Given the description of an element on the screen output the (x, y) to click on. 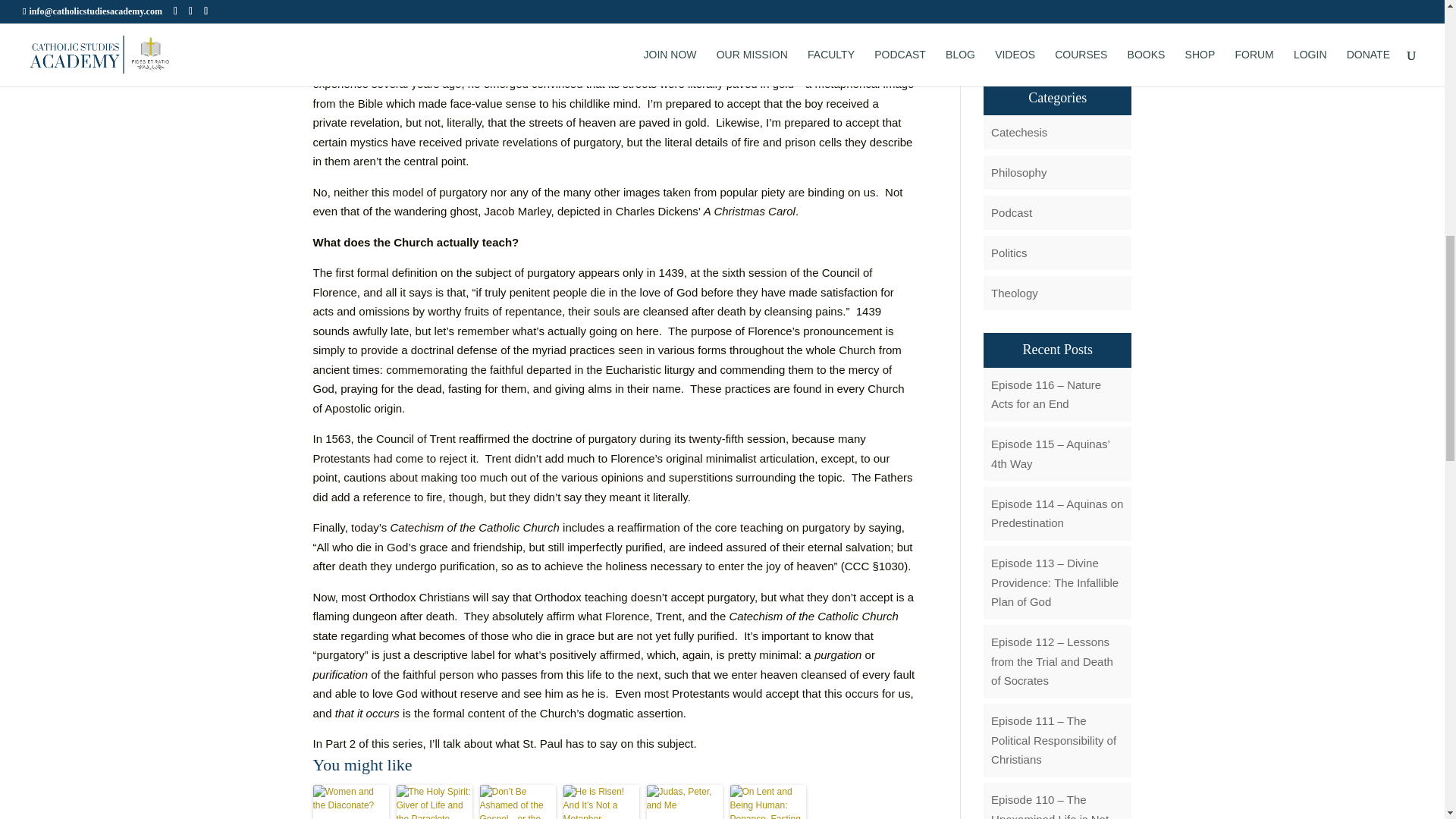
Search (1106, 42)
